Given the description of an element on the screen output the (x, y) to click on. 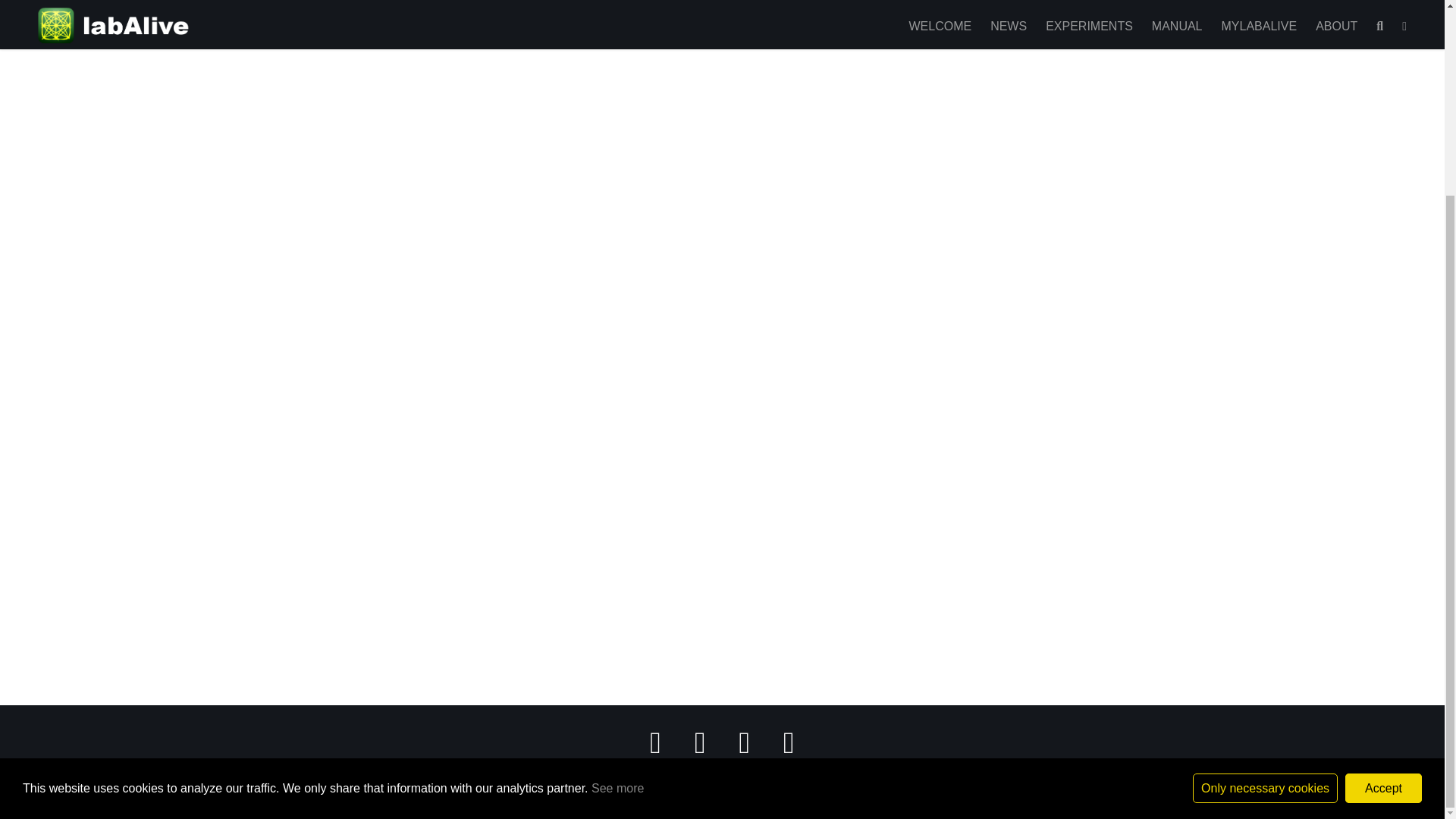
Accept all (1383, 541)
IMPRINT (632, 777)
CONTACT (808, 777)
PRIVACY STATEMENT (718, 777)
no Tracking (1265, 541)
